Given the description of an element on the screen output the (x, y) to click on. 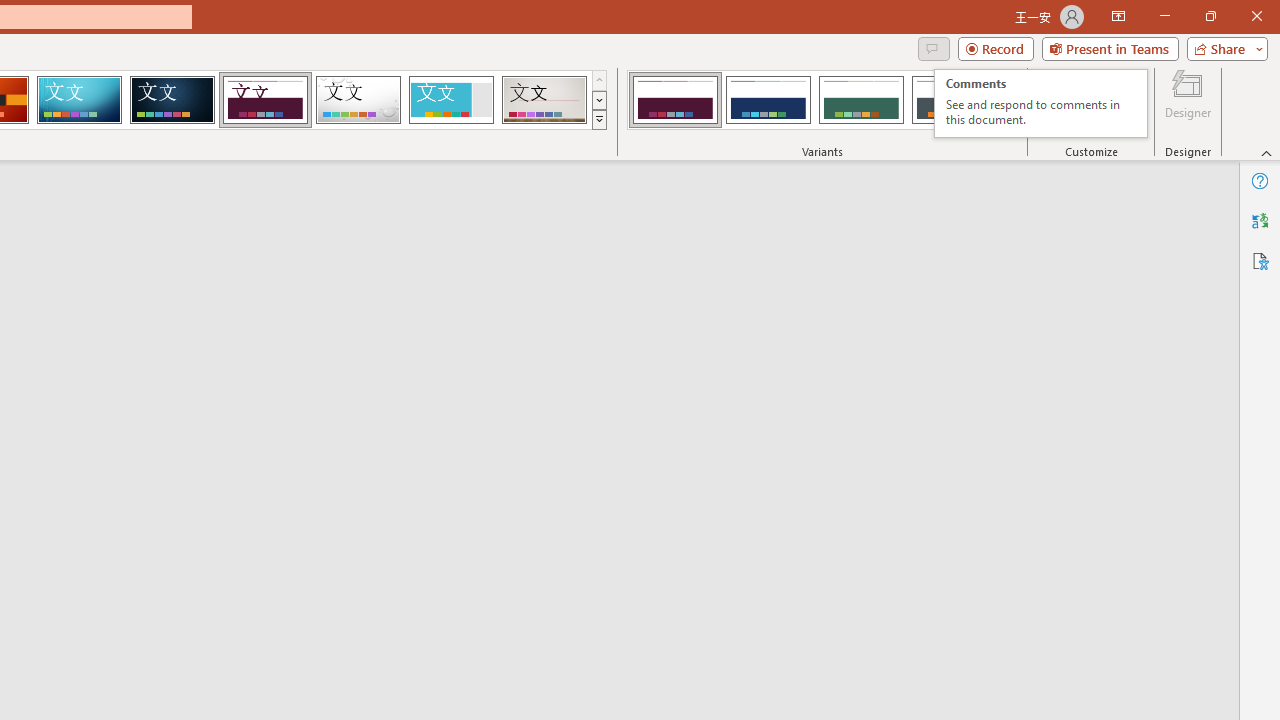
Damask (171, 100)
Frame (450, 100)
Dividend Variant 3 (861, 100)
AutomationID: ThemeVariantsGallery (822, 99)
Format Background (1111, 102)
Droplet (358, 100)
Circuit (1041, 103)
Dividend Variant 1 (79, 100)
Themes (674, 100)
